Given the description of an element on the screen output the (x, y) to click on. 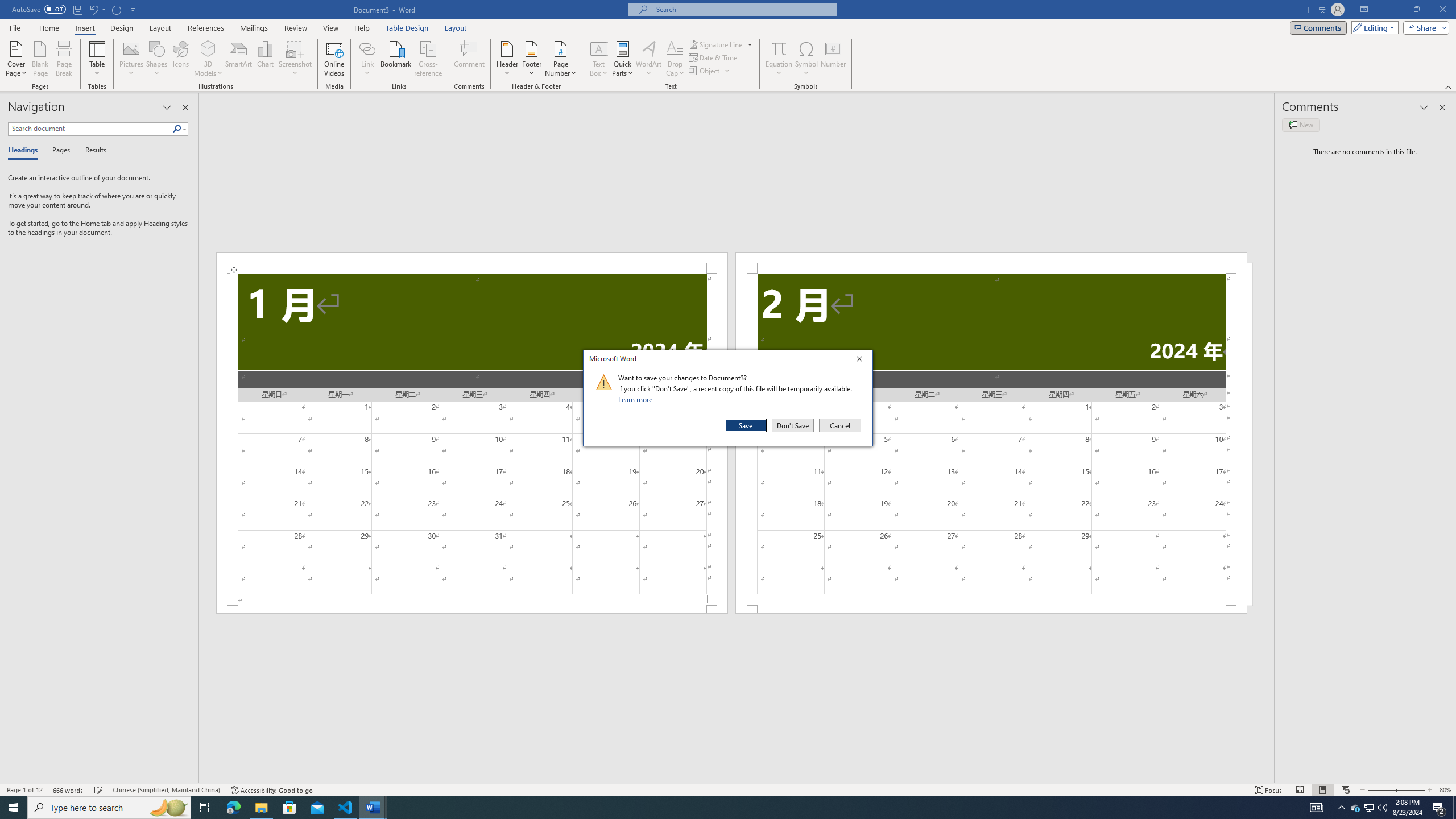
Q2790: 100% (1382, 807)
Learn more (636, 399)
3D Models (1355, 807)
Results (208, 58)
Zoom Out (91, 150)
Language Chinese (Simplified, Mainland China) (1378, 790)
Comment (165, 790)
Insert (469, 58)
WordArt (83, 28)
User Promoted Notification Area (648, 58)
Accessibility Checker Accessibility: Good to go (1368, 807)
